Given the description of an element on the screen output the (x, y) to click on. 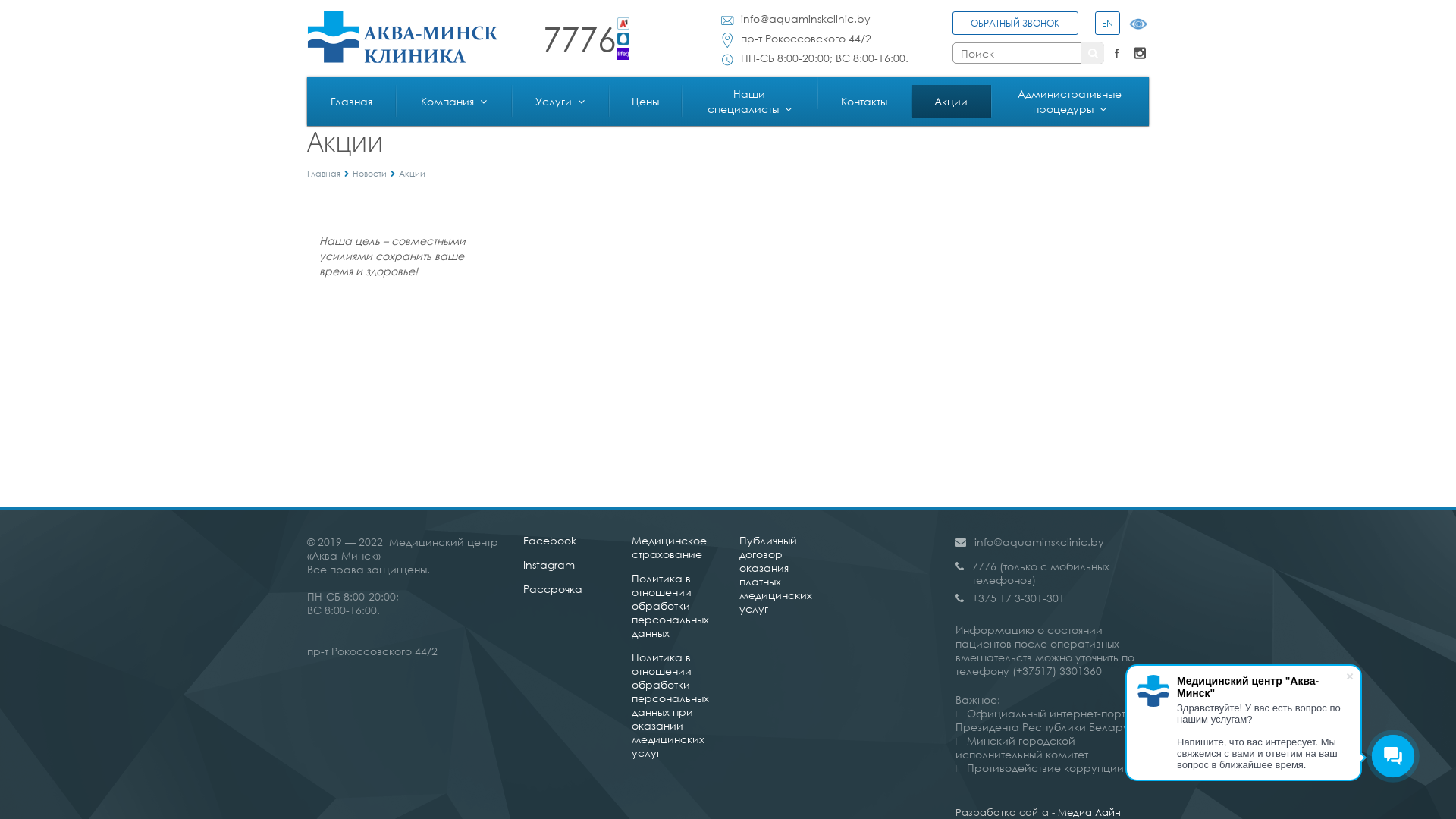
Facebook Element type: text (549, 539)
7776 Element type: text (586, 38)
EN Element type: text (1105, 24)
info@aquaminskclinic.by Element type: text (1039, 541)
+375 17 3-301-301 Element type: text (1051, 598)
Instagram Element type: text (548, 564)
Facebook Element type: text (1116, 52)
info@aquaminskclinic.by Element type: text (804, 18)
Instagram Element type: text (1139, 52)
